Given the description of an element on the screen output the (x, y) to click on. 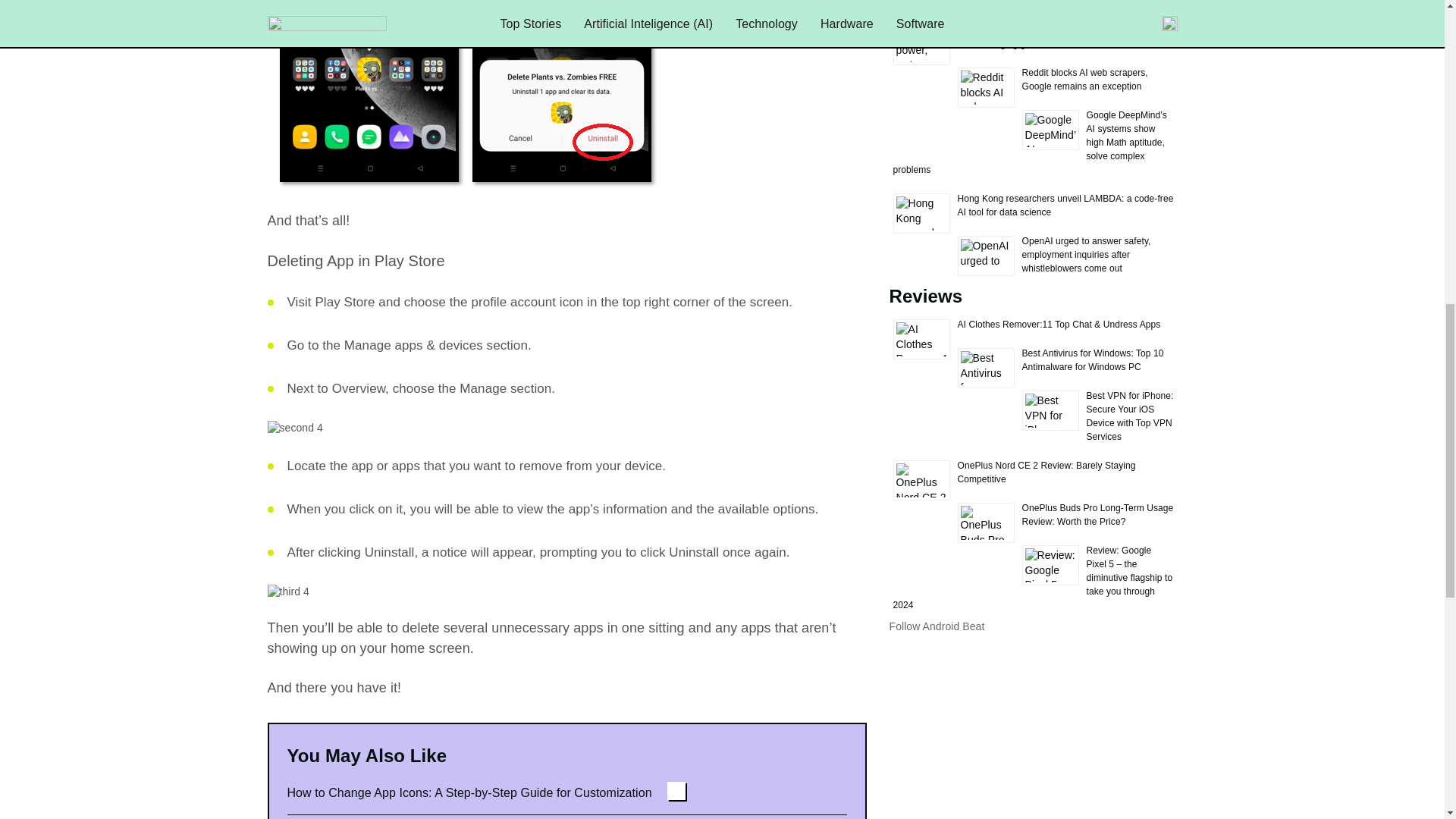
How To Delete Apps From Your Android Device 2 (293, 427)
How to Block Spam Messages on Android (417, 816)
How To Delete Apps From Your Android Device 1 (462, 95)
How To Delete Apps From Your Android Device 3 (287, 591)
